Given the description of an element on the screen output the (x, y) to click on. 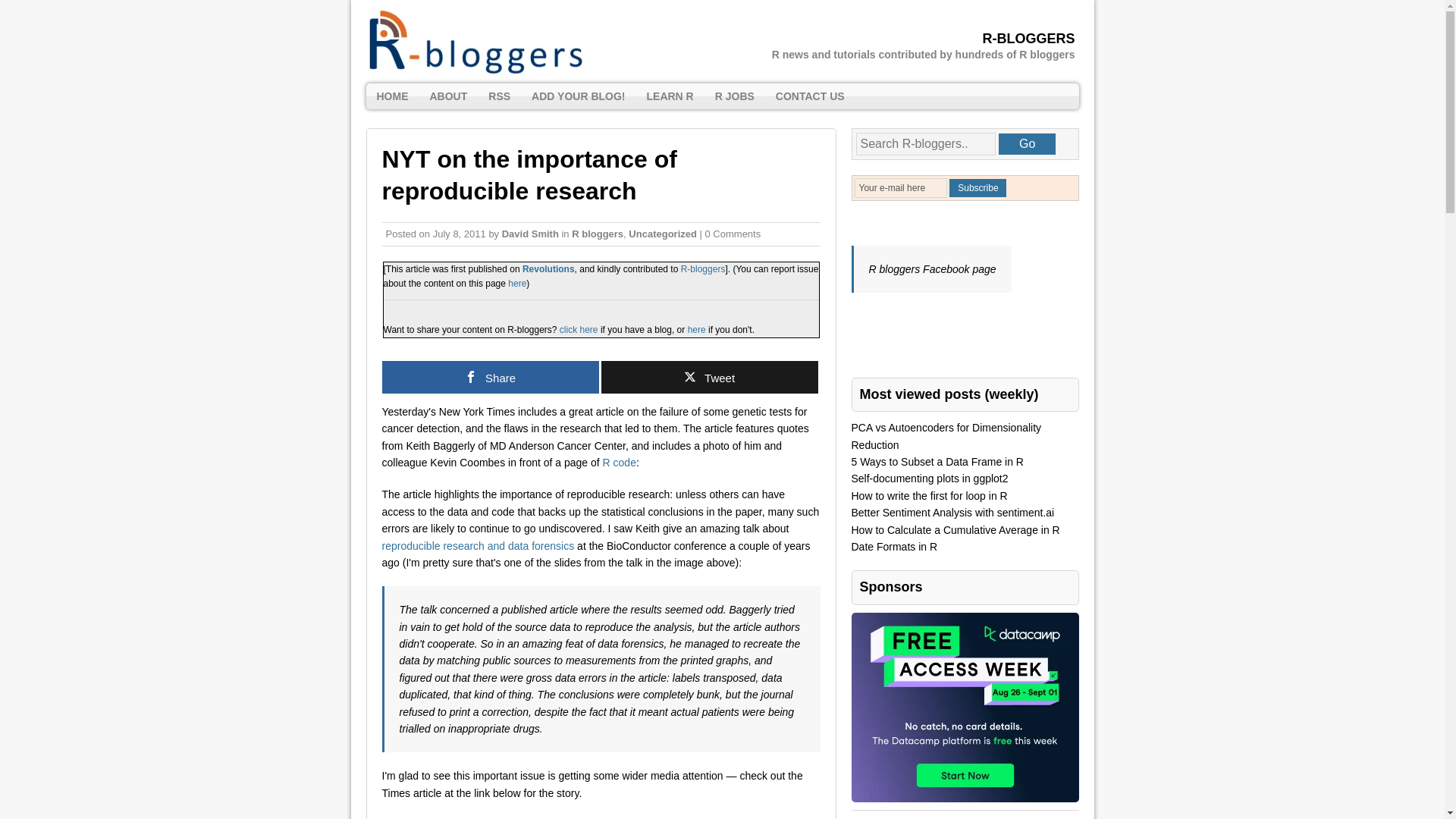
Date Formats in R (893, 546)
ADD YOUR BLOG! (577, 95)
LEARN R (668, 95)
here (696, 329)
Tweet (707, 377)
How to write the first for loop in R (928, 495)
Go (1026, 143)
Subscribe (977, 188)
RSS (499, 95)
Self-documenting plots in ggplot2 (928, 478)
